Given the description of an element on the screen output the (x, y) to click on. 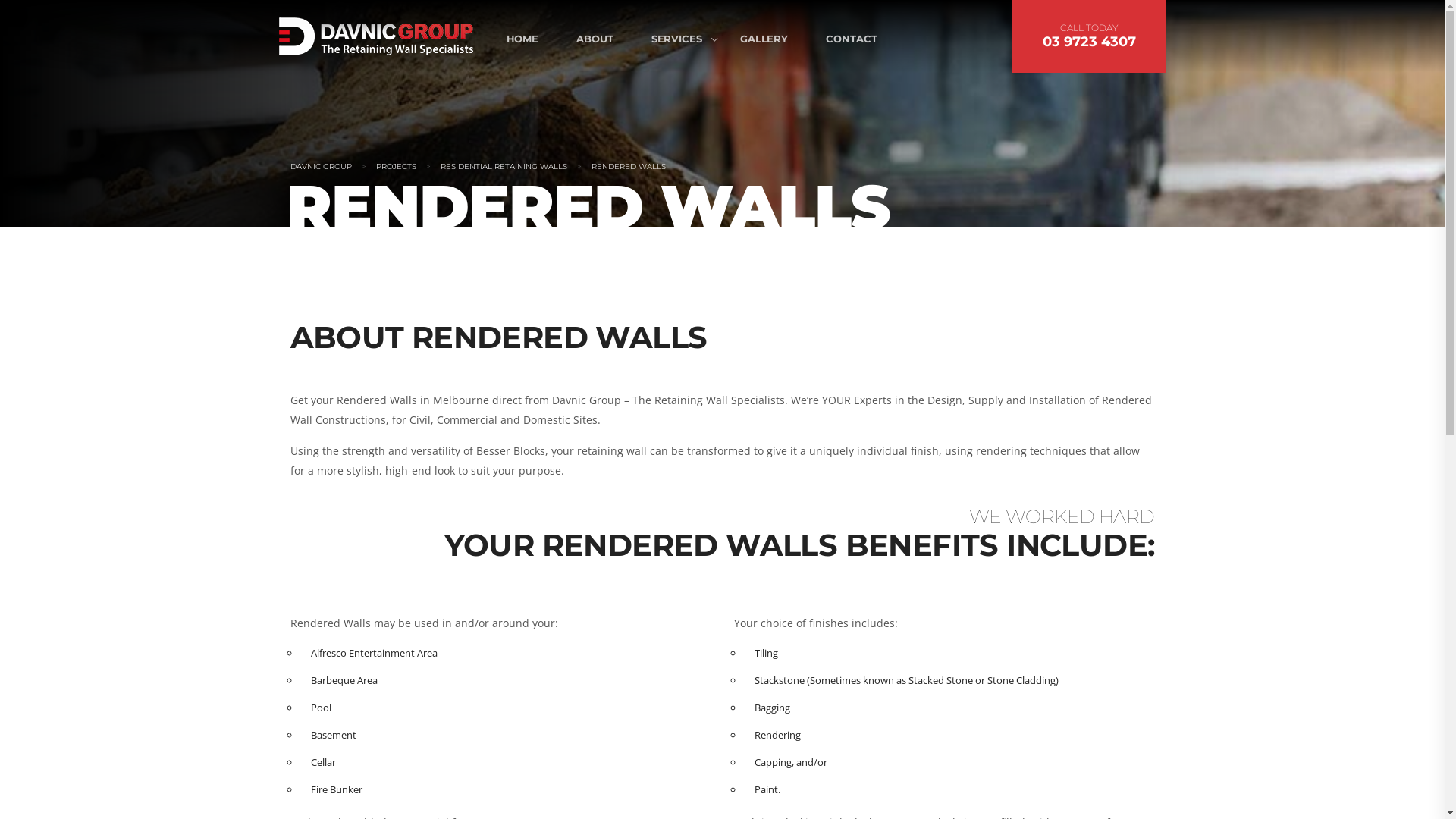
03 9723 4307 Element type: text (1088, 41)
GALLERY Element type: text (763, 38)
SERVICES Element type: text (676, 38)
RESIDENTIAL RETAINING WALLS Element type: text (502, 166)
CONTACT Element type: text (850, 38)
ABOUT Element type: text (594, 38)
DAVNIC GROUP Element type: text (320, 166)
PROJECTS Element type: text (396, 166)
HOME Element type: text (532, 38)
